Given the description of an element on the screen output the (x, y) to click on. 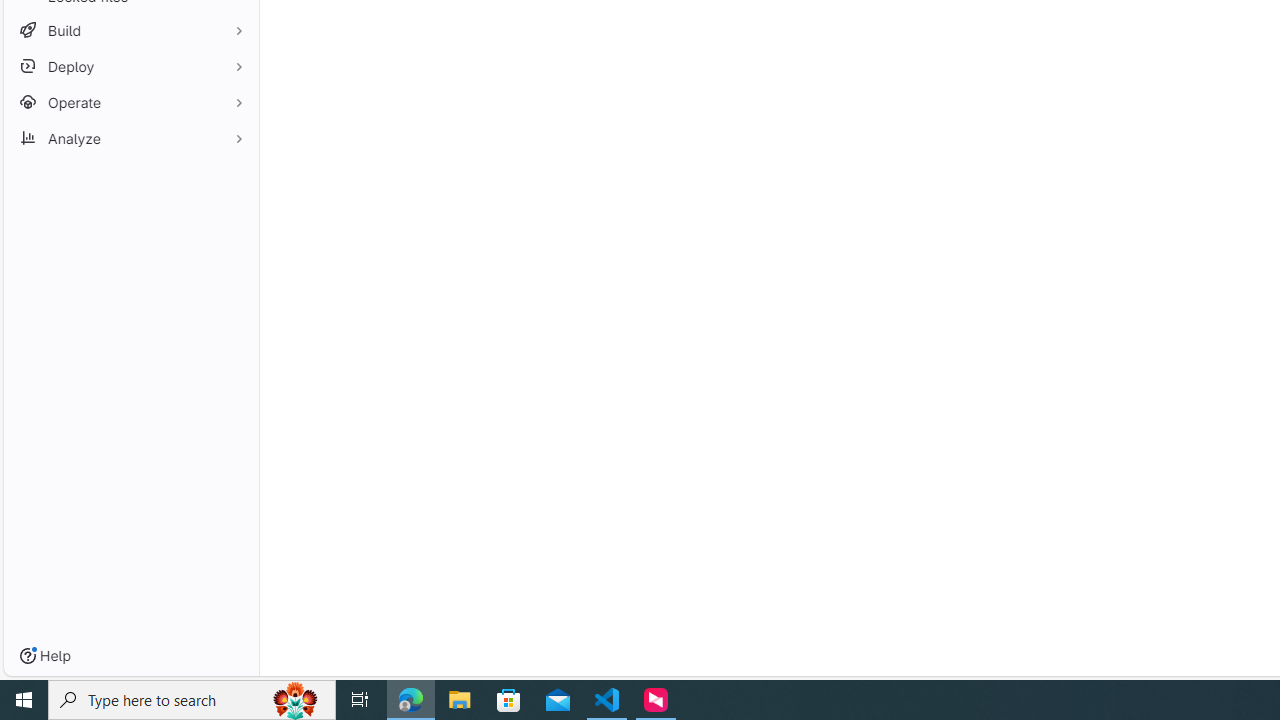
Help (45, 655)
Analyze (130, 137)
Deploy (130, 65)
Operate (130, 101)
Deploy (130, 65)
Build (130, 29)
Build (130, 29)
Operate (130, 101)
Analyze (130, 137)
